Given the description of an element on the screen output the (x, y) to click on. 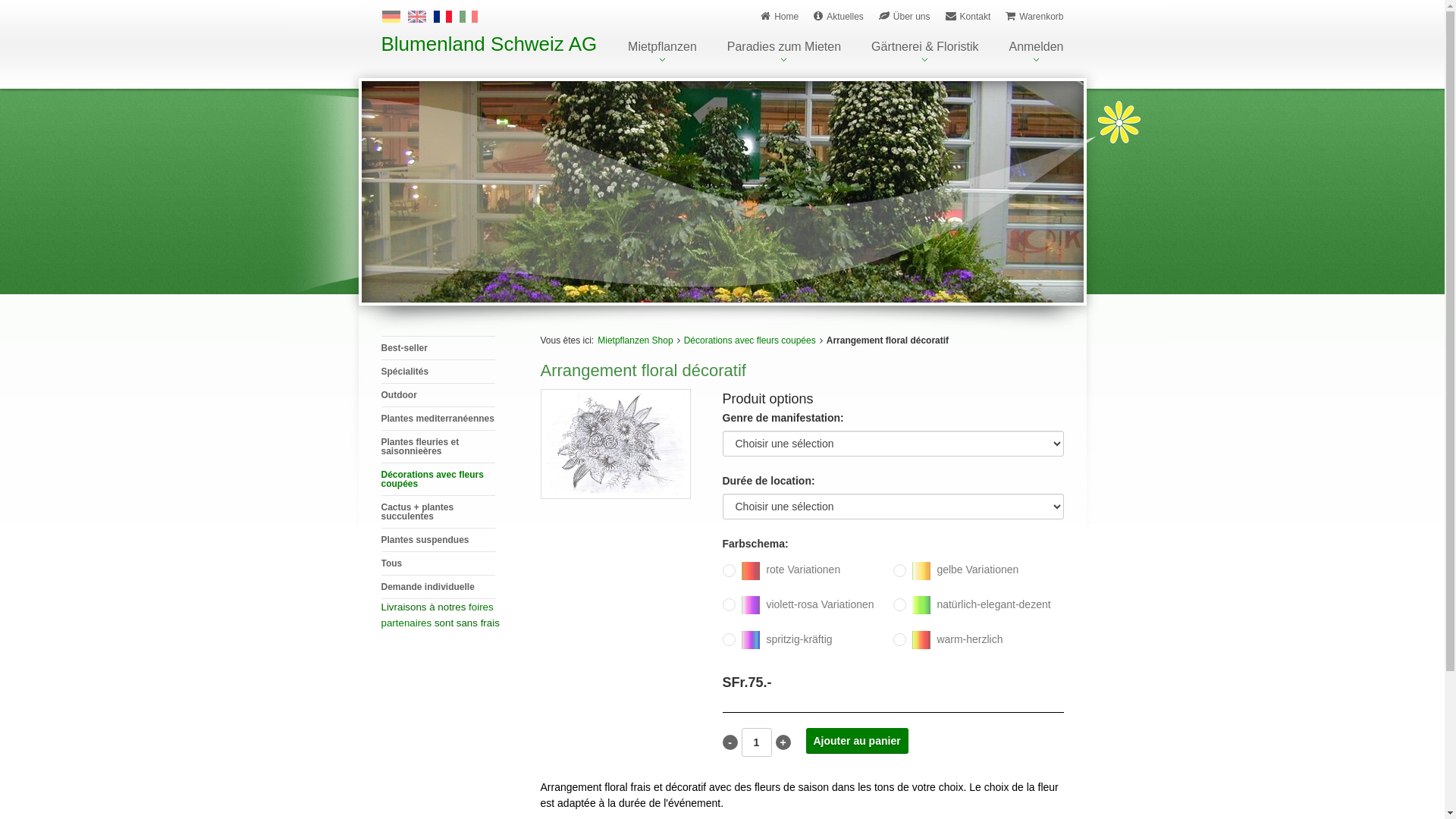
Italiano Element type: hover (468, 16)
Deutsch Element type: hover (391, 16)
Tous Element type: text (437, 562)
Demande individuelle Element type: text (437, 586)
Plantes suspendues Element type: text (437, 539)
Kontakt Element type: text (968, 16)
Mietpflanzen Element type: text (661, 51)
Anmelden Element type: text (1035, 51)
English Element type: hover (416, 16)
Warenkorb Element type: text (1034, 16)
Cactus + plantes succulentes Element type: text (437, 511)
Outdoor Element type: text (437, 394)
Best-seller Element type: text (437, 347)
Paradies zum Mieten Element type: text (783, 51)
Ajouter au panier Element type: text (856, 740)
Aktuelles Element type: text (838, 16)
foires partenaires Element type: text (436, 614)
Mietpflanzen Shop Element type: text (634, 340)
Home Element type: text (779, 16)
Blumenland Schweiz AG Element type: text (488, 43)
